Given the description of an element on the screen output the (x, y) to click on. 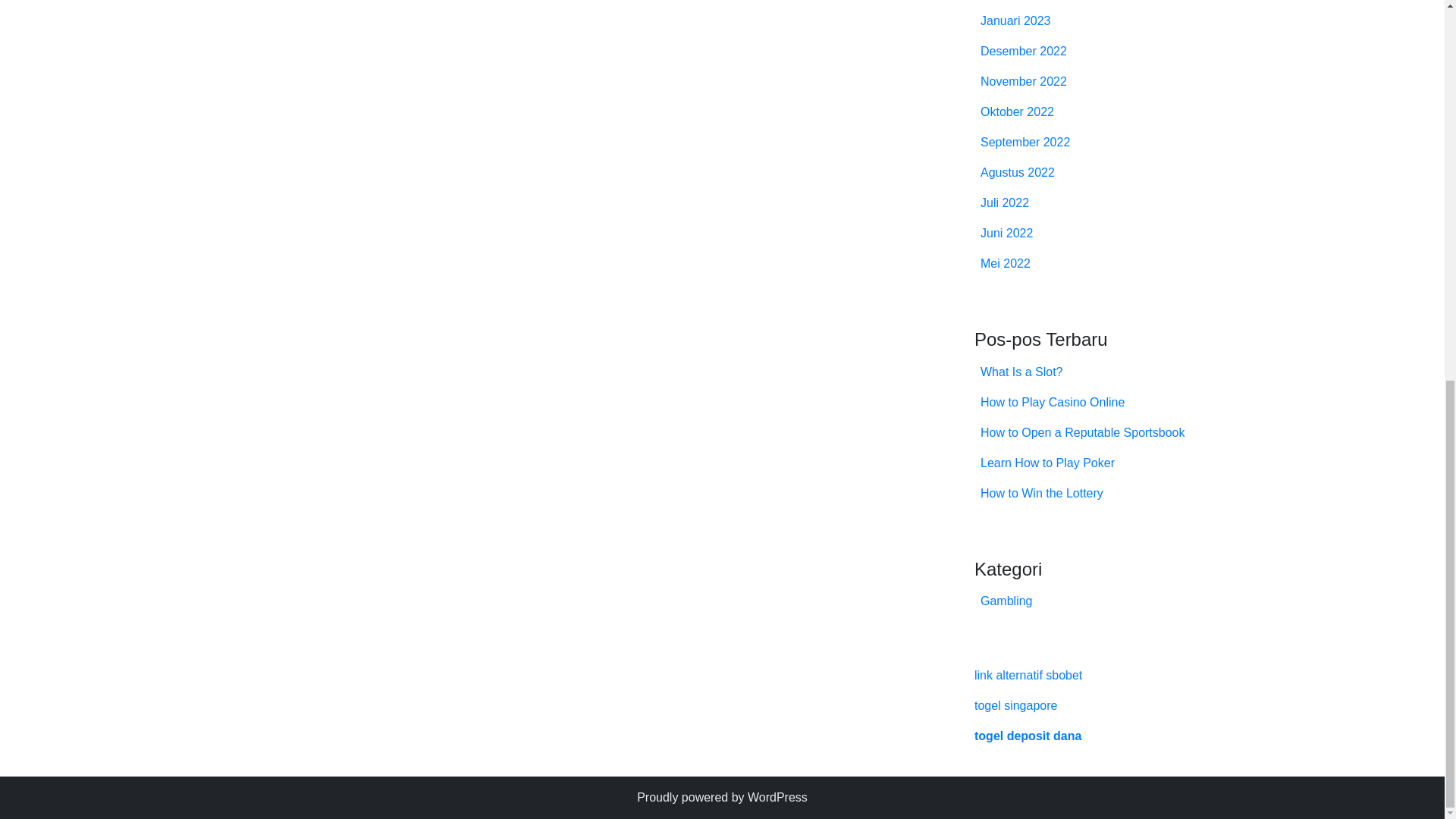
Desember 2022 (1023, 51)
Agustus 2022 (1016, 172)
How to Open a Reputable Sportsbook (1082, 431)
What Is a Slot? (1020, 371)
Juni 2022 (1005, 232)
Mei 2022 (1004, 263)
September 2022 (1024, 141)
Learn How to Play Poker (1047, 462)
Januari 2023 (1015, 20)
November 2022 (1023, 81)
